Given the description of an element on the screen output the (x, y) to click on. 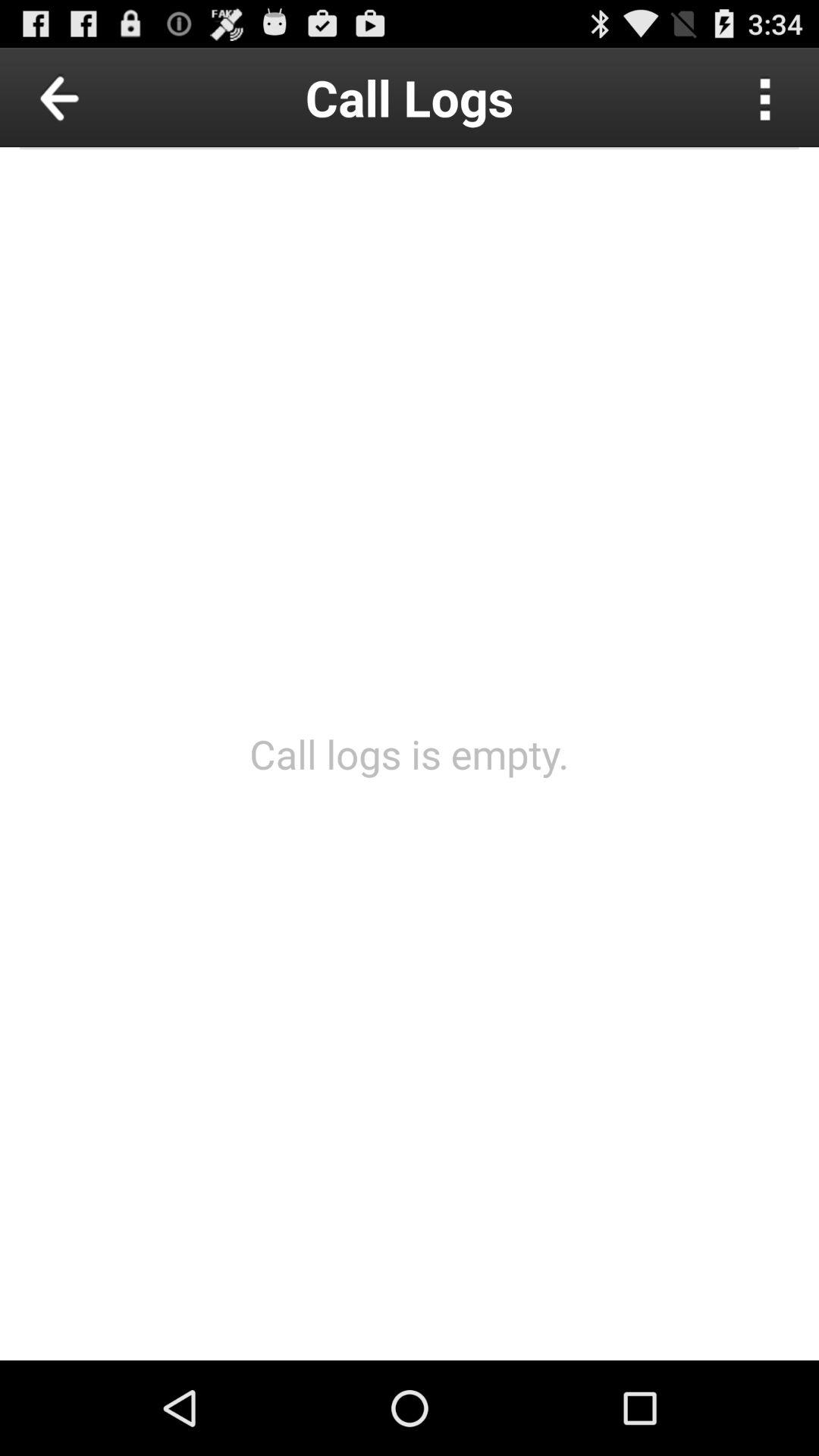
go back (94, 97)
